Given the description of an element on the screen output the (x, y) to click on. 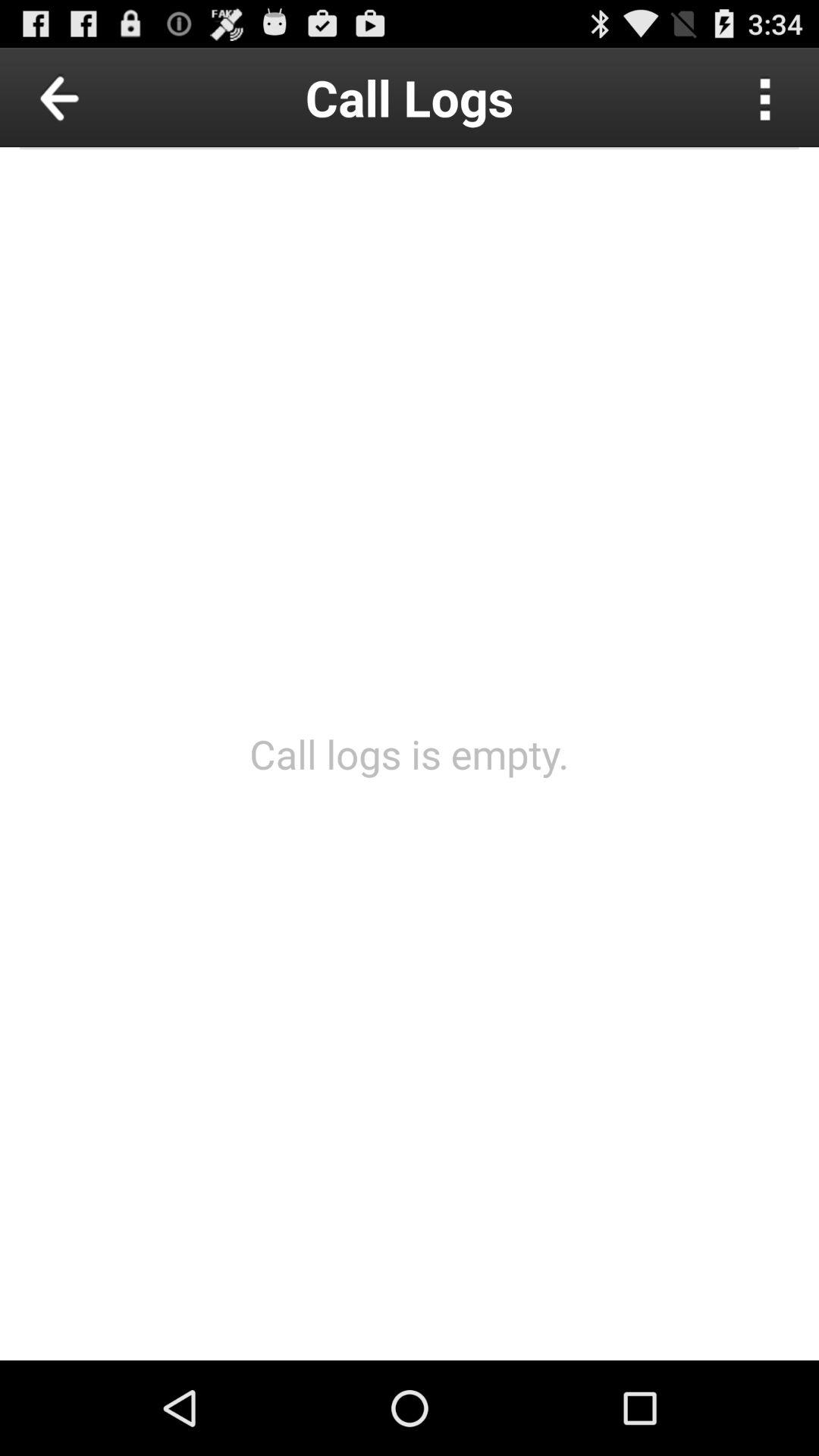
go back (94, 97)
